Given the description of an element on the screen output the (x, y) to click on. 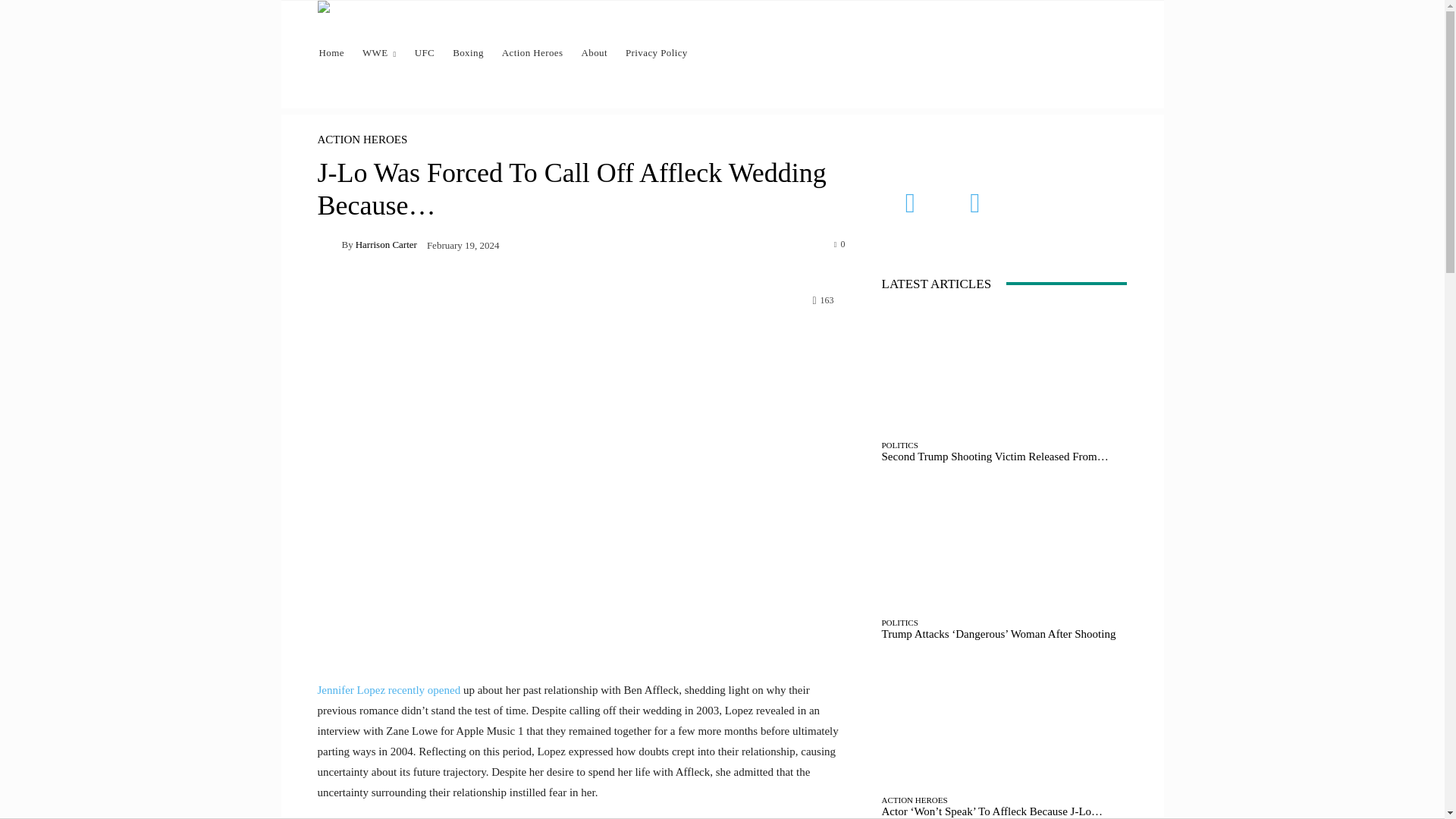
ACTION HEROES (362, 139)
Privacy Policy (656, 53)
Home (330, 53)
Boxing (468, 53)
About (593, 53)
Twitter (975, 202)
Facebook (909, 202)
Harrison Carter (328, 243)
WWE (379, 53)
Harrison Carter (385, 244)
Action Heroes (532, 53)
UFC (425, 53)
